Given the description of an element on the screen output the (x, y) to click on. 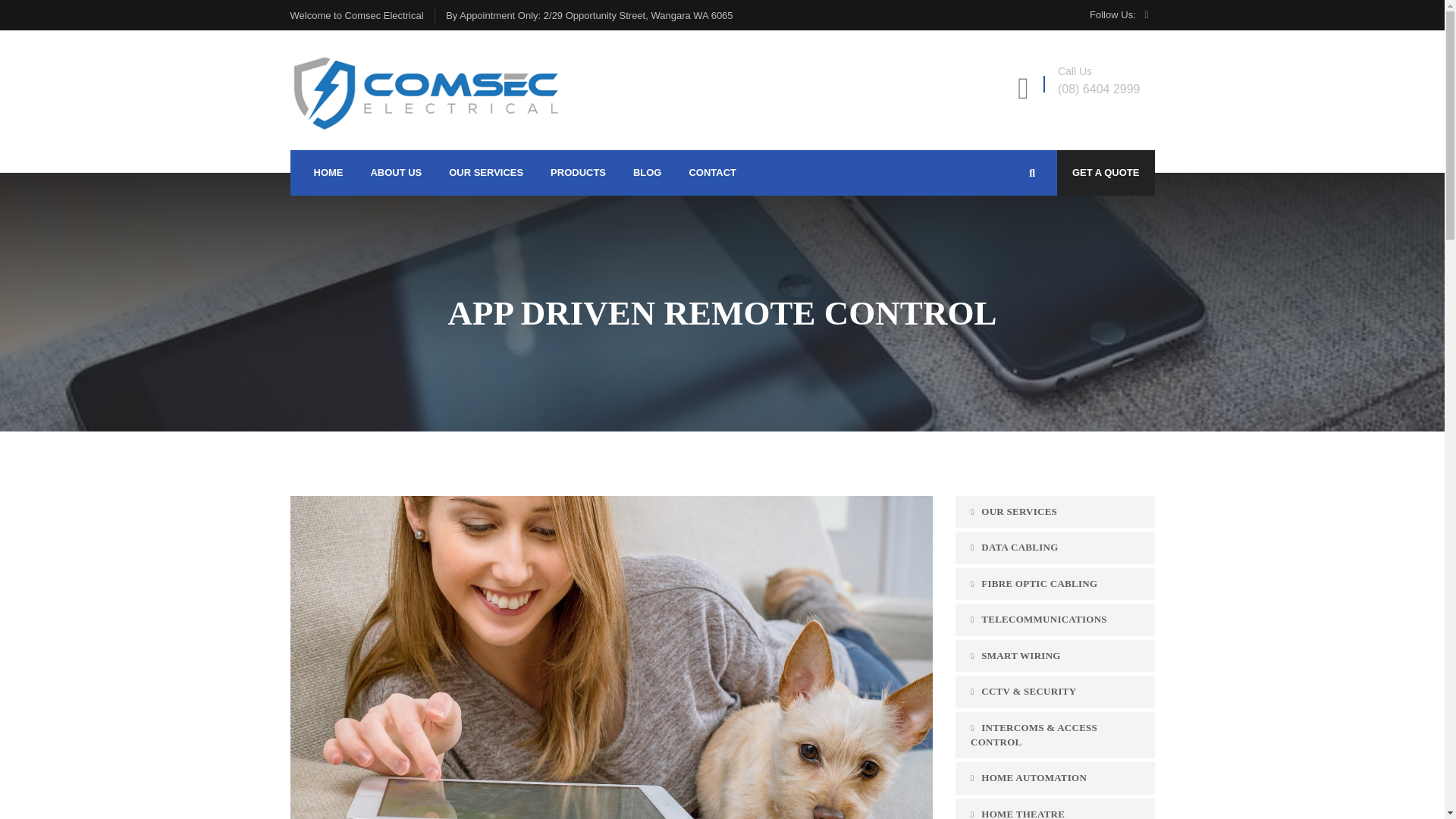
DATA CABLING (1054, 547)
ABOUT US (395, 172)
CONTACT (712, 172)
PRODUCTS (577, 172)
TELECOMMUNICATIONS (1054, 619)
HOME AUTOMATION (1054, 778)
Search (1126, 223)
HOME THEATRE (1054, 808)
OUR SERVICES (485, 172)
FIBRE OPTIC CABLING (1054, 584)
OUR SERVICES (1054, 512)
SMART WIRING (1054, 655)
